Given the description of an element on the screen output the (x, y) to click on. 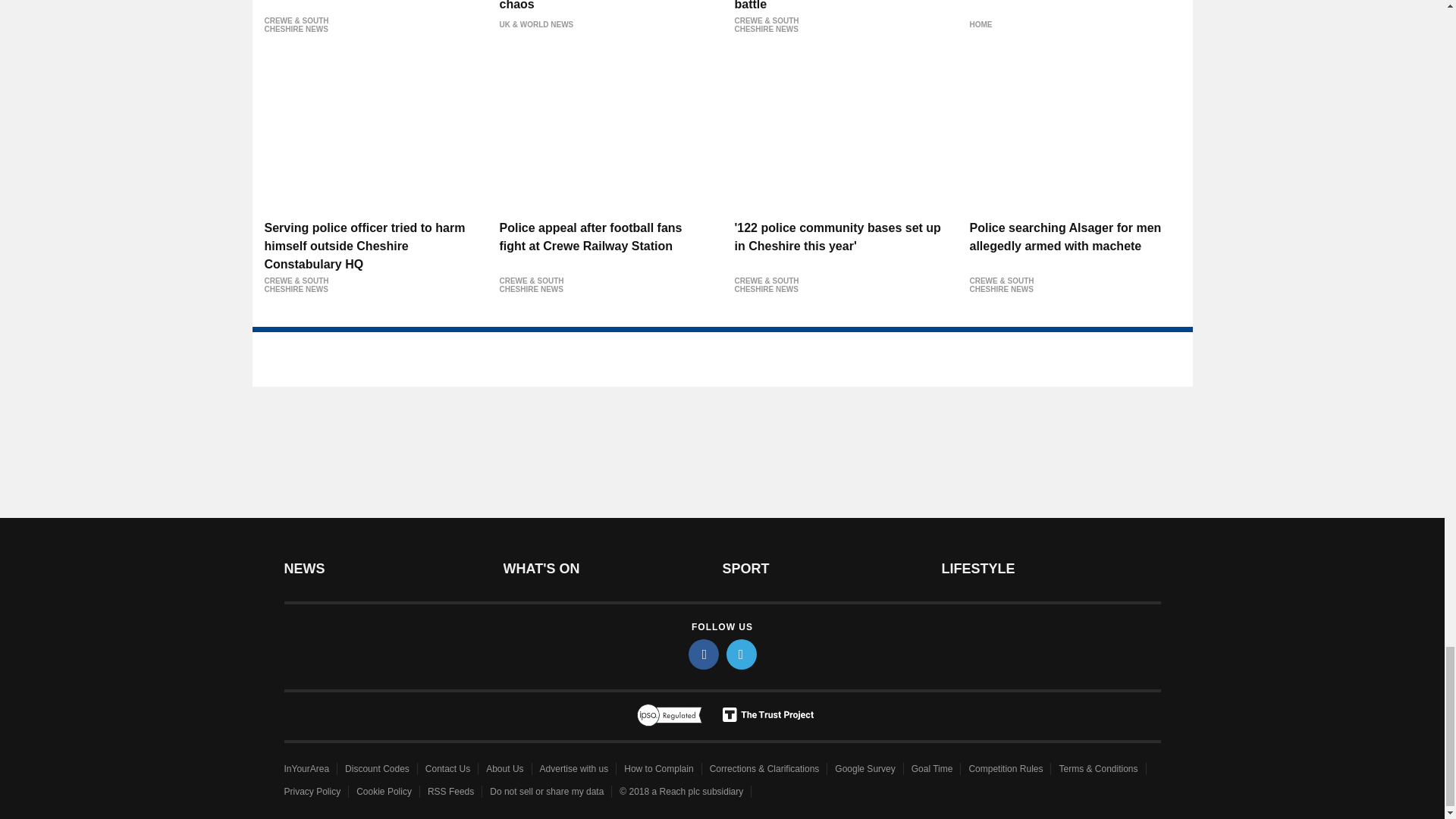
facebook (703, 654)
twitter (741, 654)
